Given the description of an element on the screen output the (x, y) to click on. 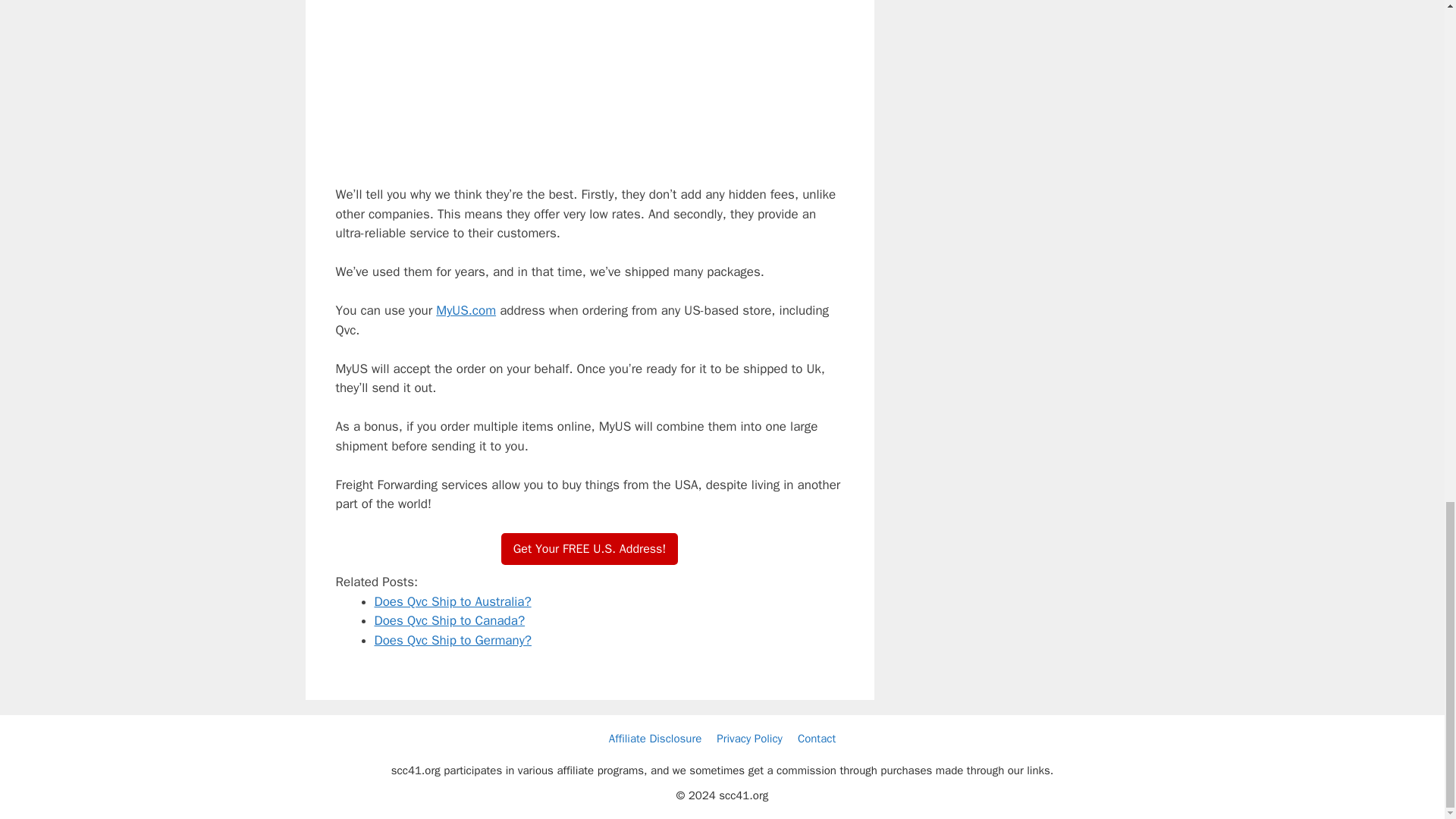
Affiliate Disclosure (654, 738)
Does Qvc Ship to Australia? (452, 601)
Does Qvc Ship to Canada? (449, 620)
Contact (816, 738)
MyUS.com (465, 310)
Does Qvc Ship to Germany? (452, 640)
Privacy Policy (749, 738)
Get Your FREE U.S. Address! (589, 549)
